Given the description of an element on the screen output the (x, y) to click on. 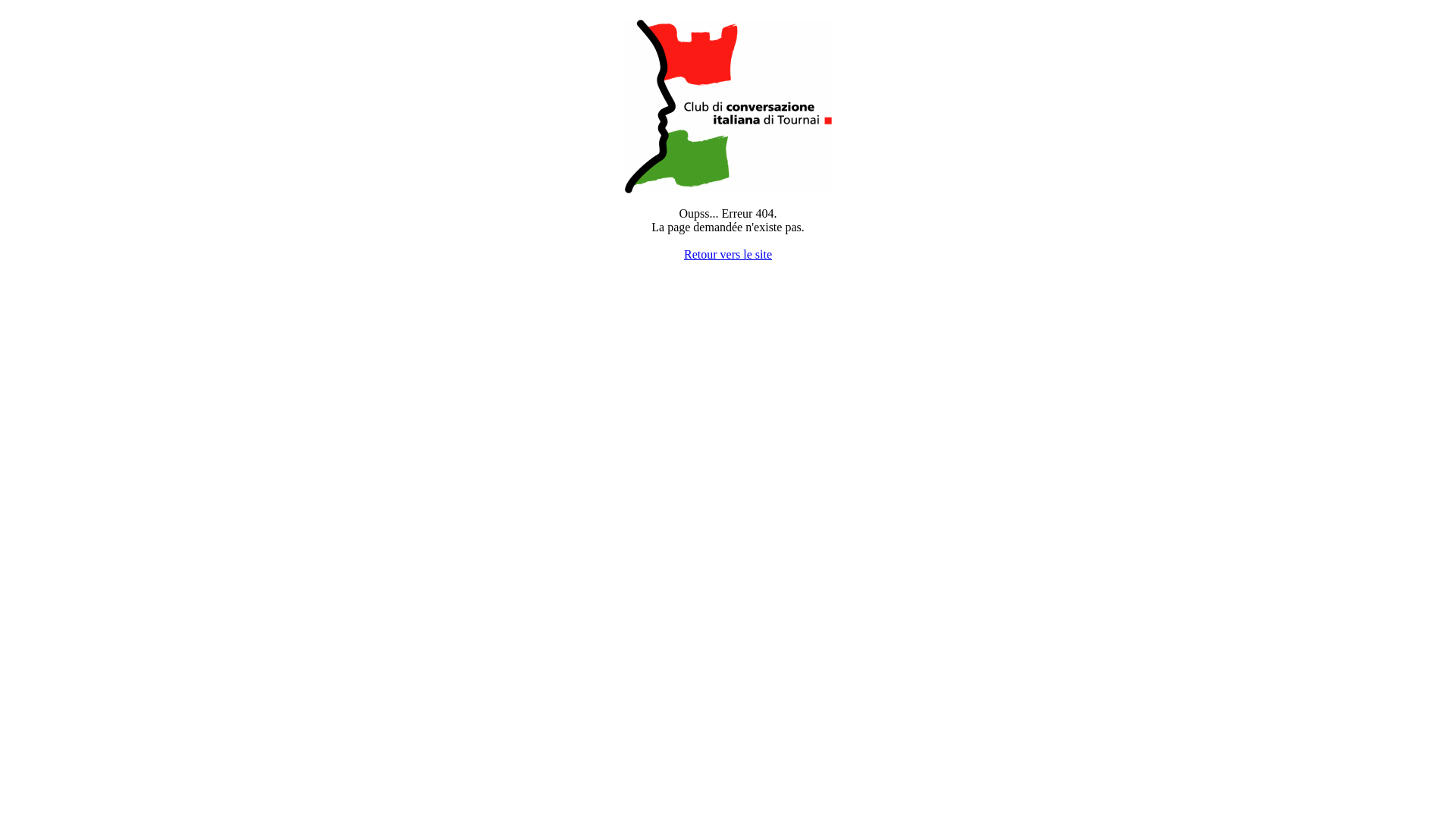
Retour vers le site Element type: text (727, 253)
